Given the description of an element on the screen output the (x, y) to click on. 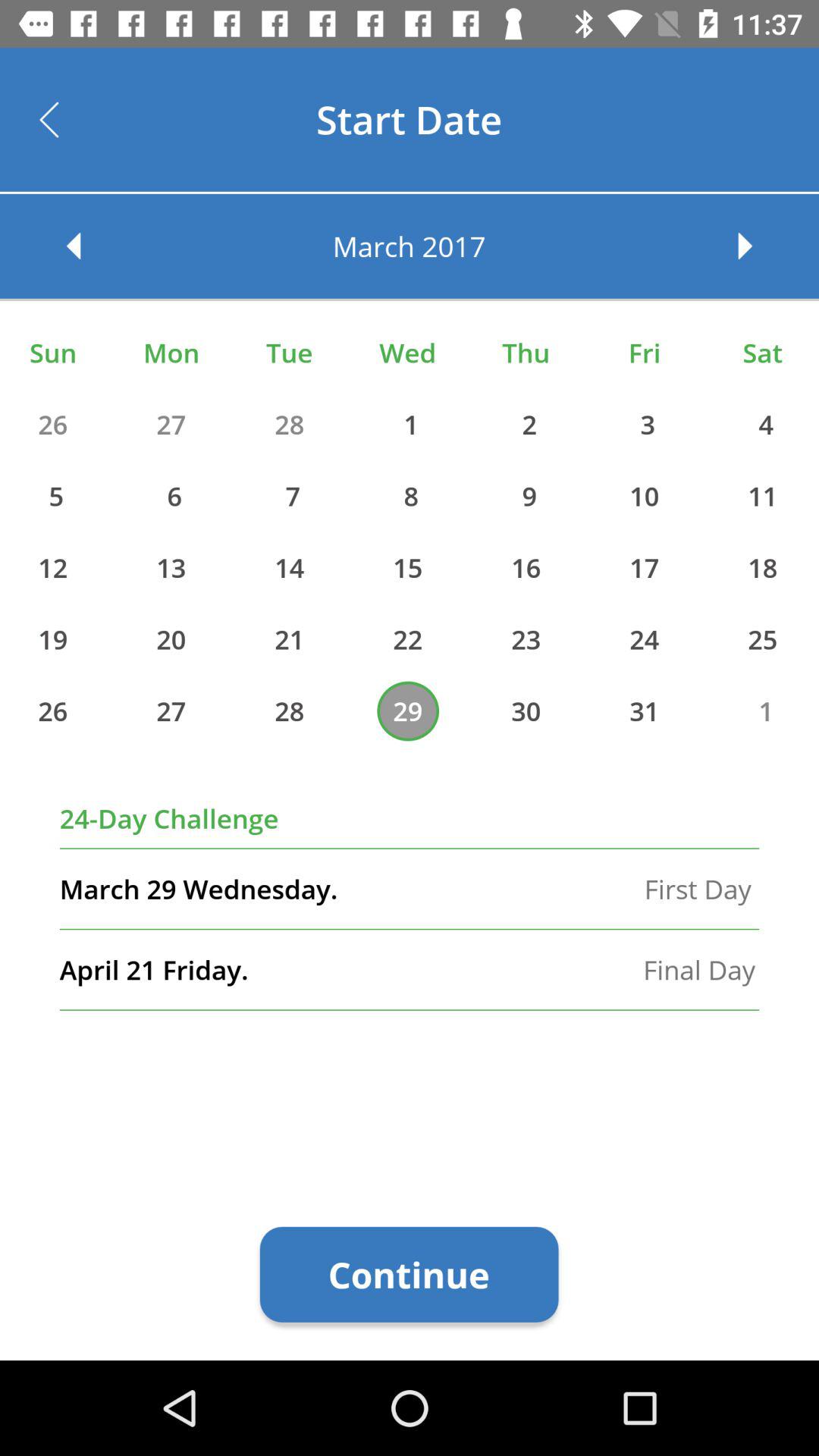
turn off icon to the right of march 2017 (760, 245)
